Given the description of an element on the screen output the (x, y) to click on. 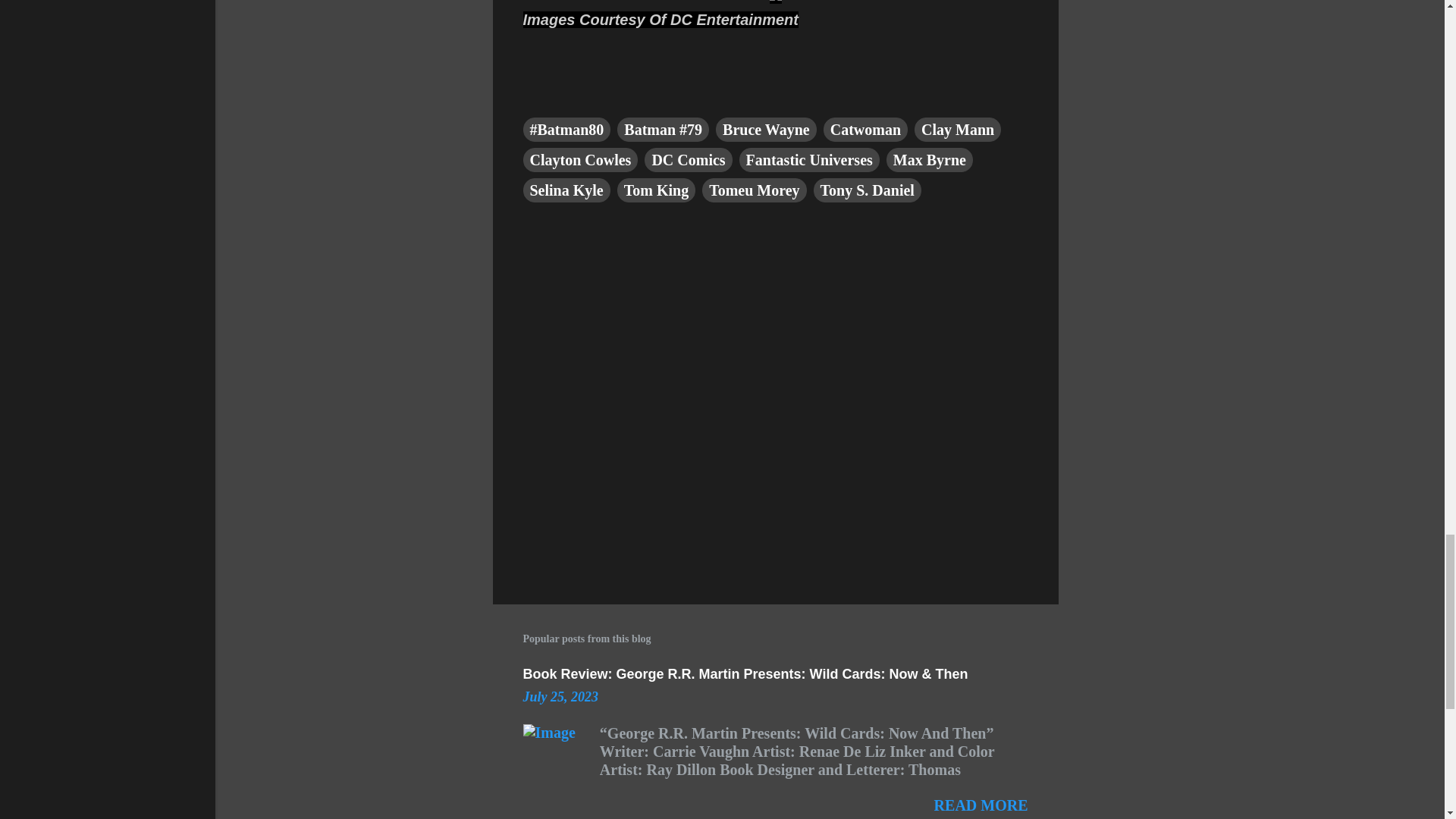
DC Comics (688, 159)
Fantastic Universes (809, 159)
Selina Kyle (566, 190)
Tomeu Morey (753, 190)
July 25, 2023 (560, 696)
Clayton Cowles (580, 159)
Catwoman (865, 129)
Max Byrne (929, 159)
Bruce Wayne (766, 129)
Tom King (656, 190)
Tony S. Daniel (867, 190)
Clay Mann (957, 129)
